Given the description of an element on the screen output the (x, y) to click on. 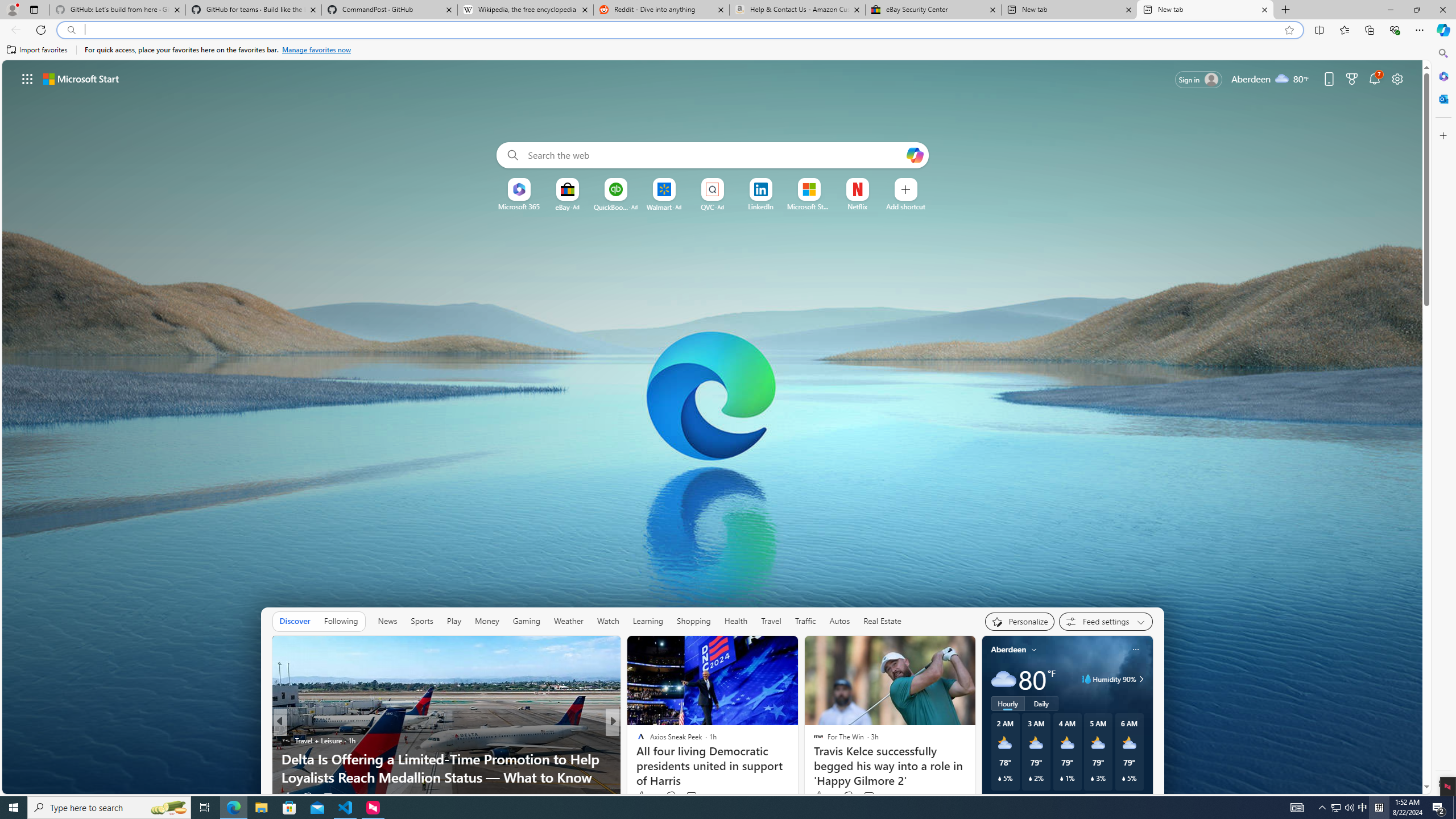
Search icon (70, 29)
47 Like (823, 795)
Autos (839, 621)
View comments 13 Comment (687, 797)
Netflix (857, 206)
View comments 2 Comment (871, 795)
LinkedIn (760, 206)
